Given the description of an element on the screen output the (x, y) to click on. 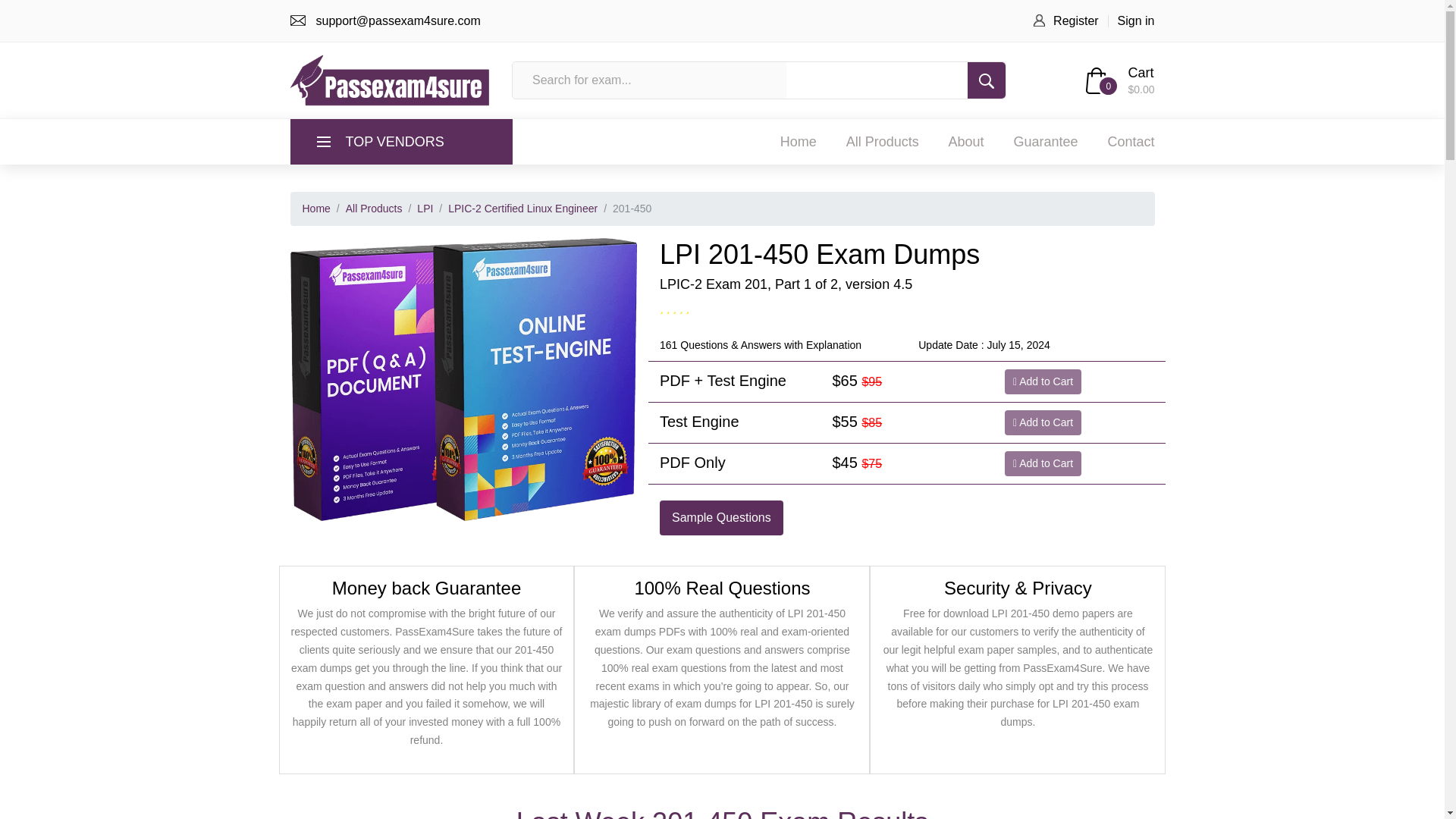
Cart (1139, 72)
LPI (424, 208)
0 (1096, 79)
Sign in (1136, 20)
About (966, 141)
Submit (987, 80)
Add to Cart (1042, 422)
Register (1075, 20)
All Products (374, 208)
Home (798, 141)
Add to Cart (1042, 381)
Sample Questions (721, 517)
Home (315, 208)
Add to Cart (1042, 463)
Contact (1130, 141)
